Given the description of an element on the screen output the (x, y) to click on. 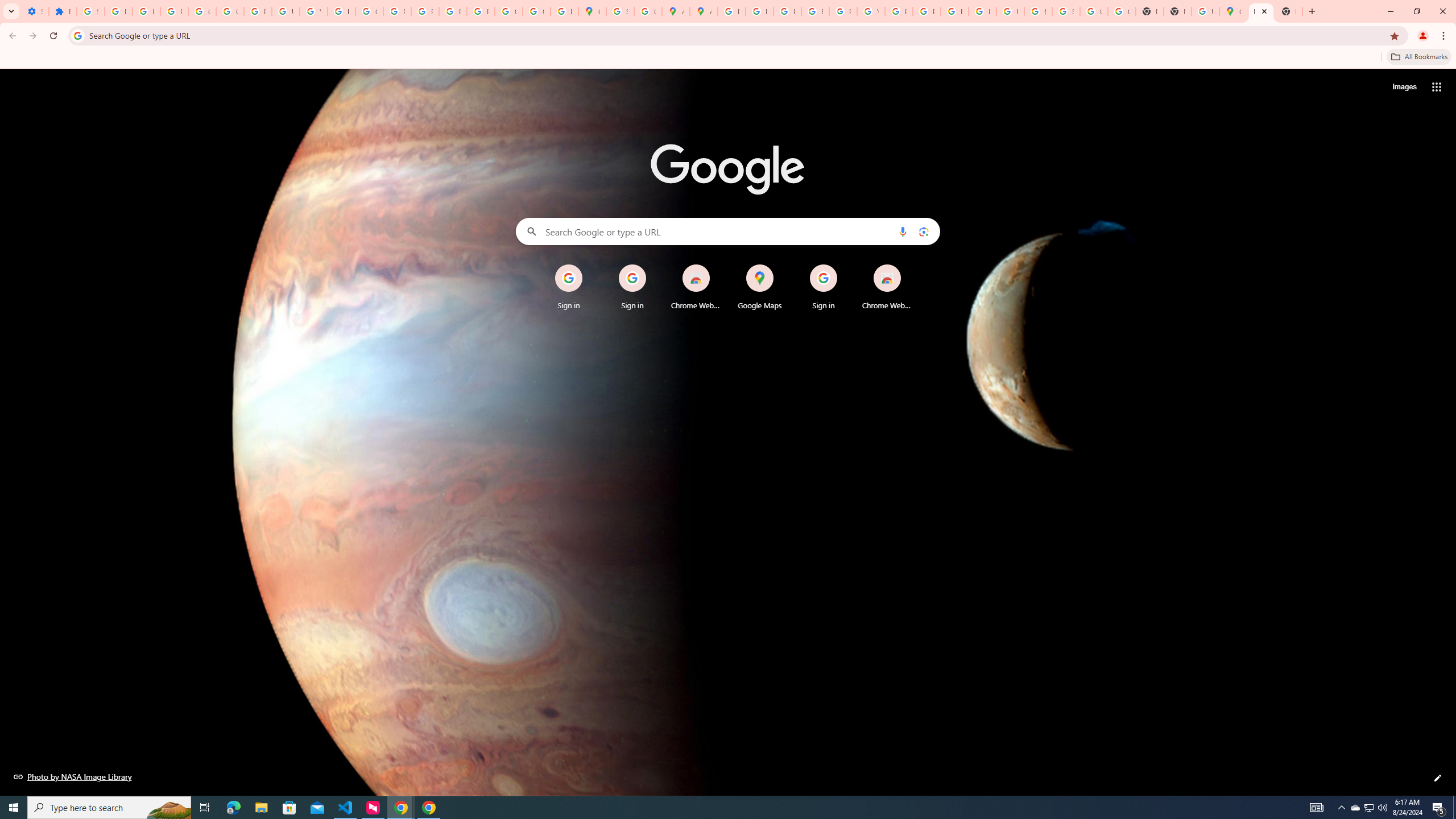
Photo by NASA Image Library (72, 776)
New Tab (1177, 11)
Sign in - Google Accounts (620, 11)
